Given the description of an element on the screen output the (x, y) to click on. 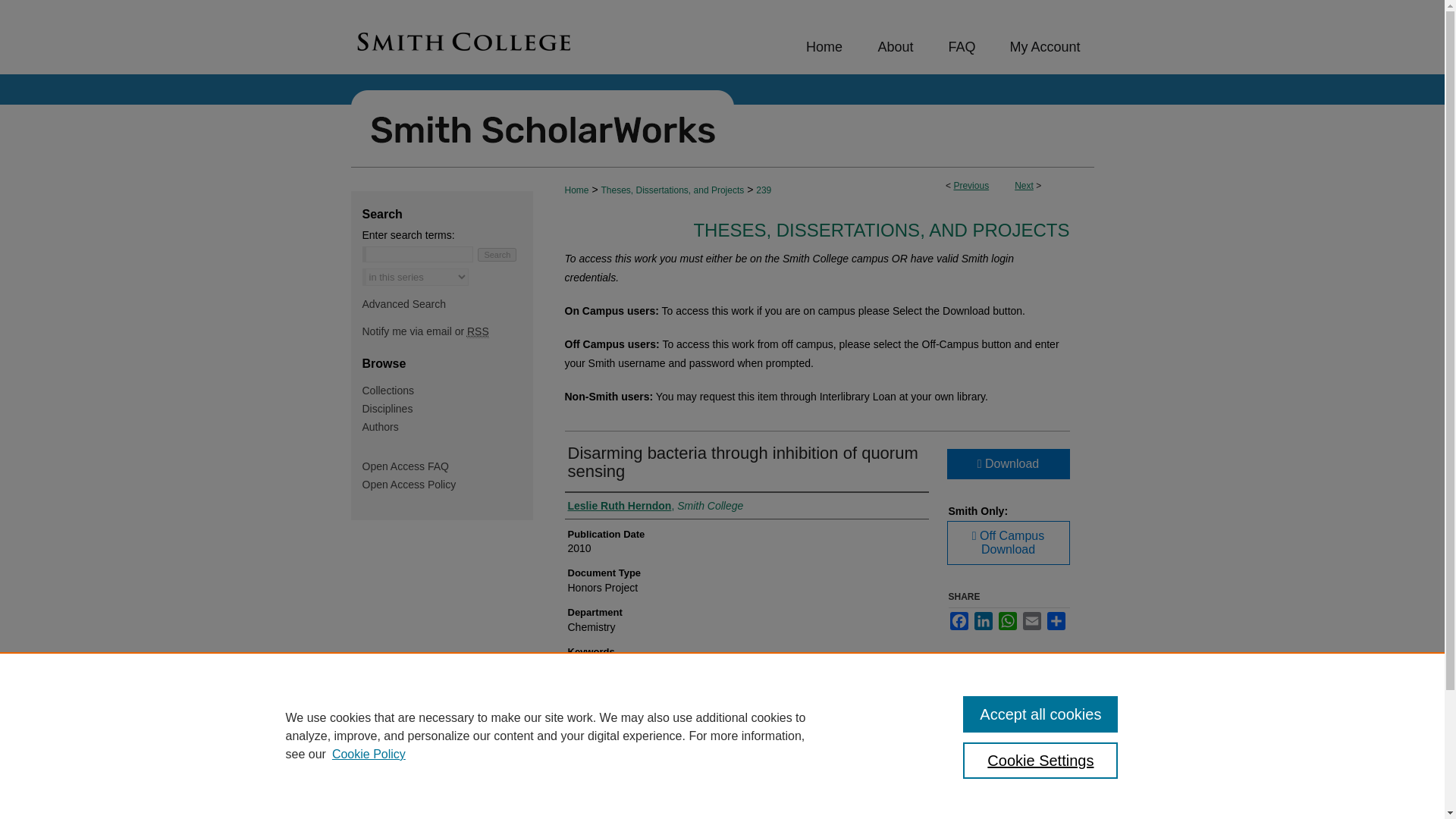
THESES, DISSERTATIONS, AND PROJECTS (880, 230)
Home (824, 46)
About (895, 46)
Facebook (958, 620)
Open Access FAQ (447, 466)
Search (496, 254)
Email or RSS Notifications (447, 331)
Previous (970, 185)
Off Campus Download (1007, 542)
Theses, Dissertations, and Projects (671, 190)
Collections (447, 390)
Notify me via email or RSS (447, 331)
My Account (1041, 46)
My Account (1041, 46)
Home (576, 190)
